Given the description of an element on the screen output the (x, y) to click on. 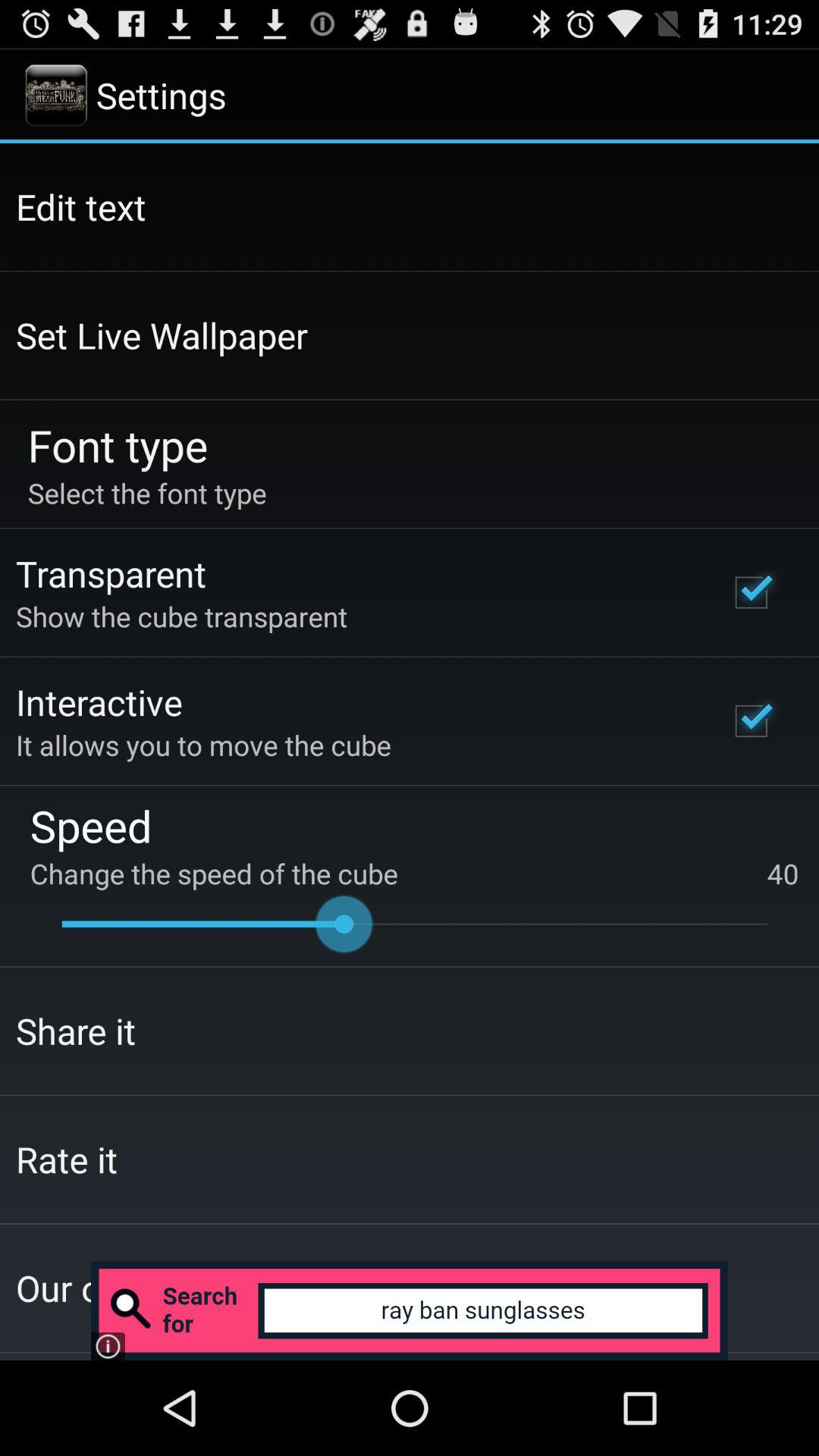
press it allows you icon (203, 744)
